Given the description of an element on the screen output the (x, y) to click on. 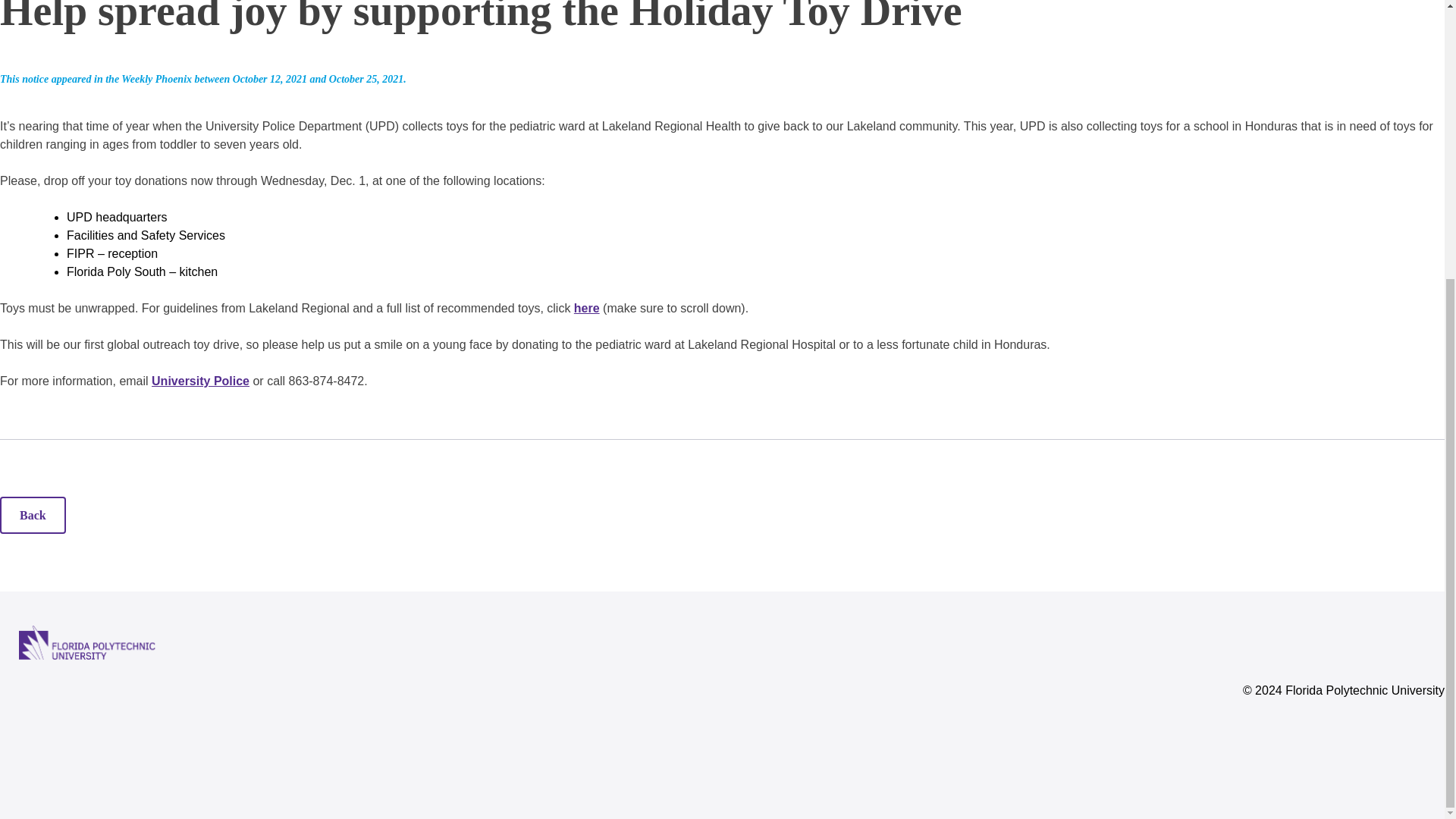
here (586, 308)
Back (32, 514)
University Police (199, 380)
Return to the previous page (32, 514)
